Given the description of an element on the screen output the (x, y) to click on. 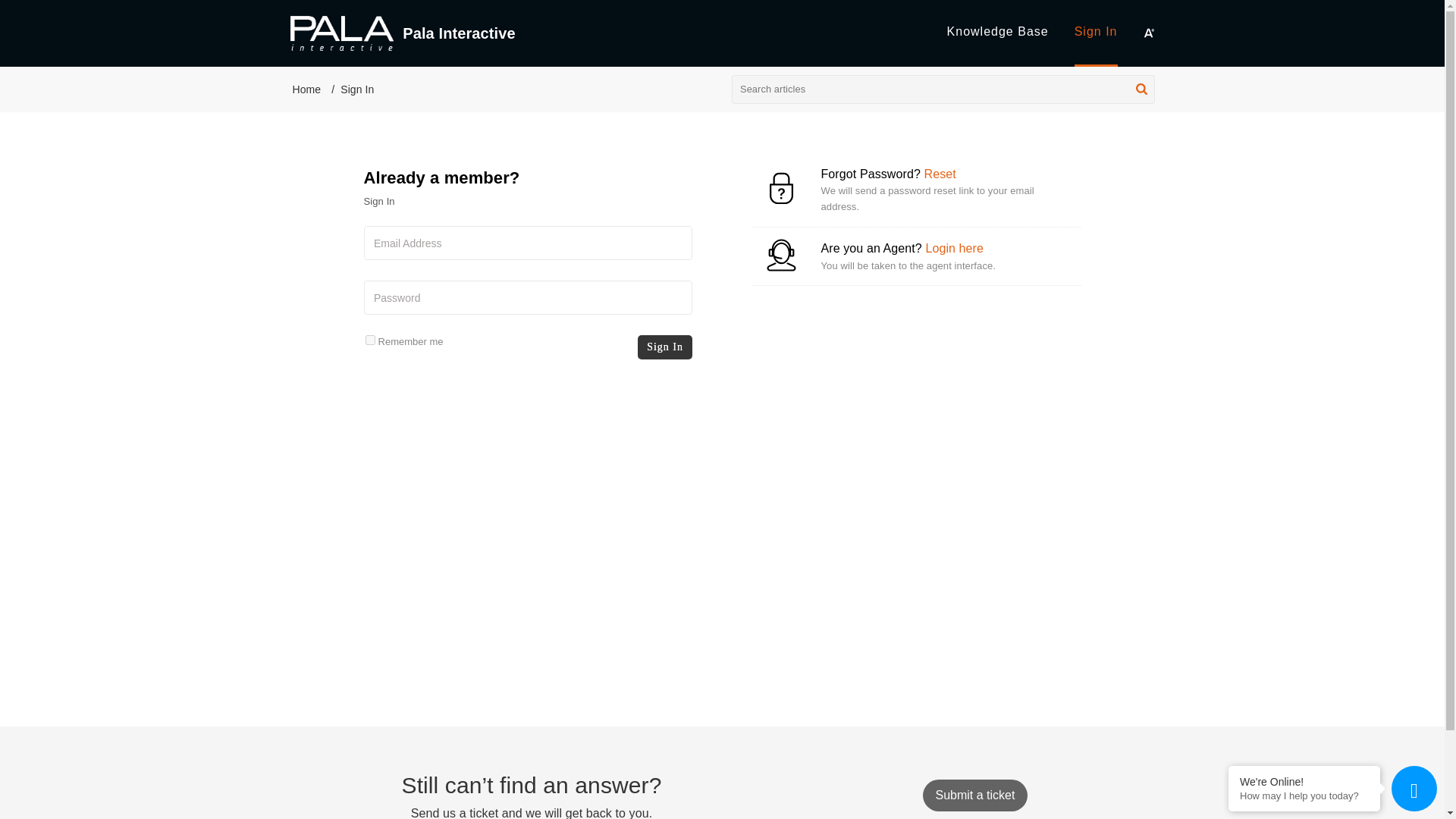
Sign In (1096, 31)
Home (306, 89)
Knowledge Base (997, 31)
How may I help you today? (1307, 795)
Reset (939, 173)
Submit a ticket (974, 795)
We're Online! (1310, 781)
Submit a ticket (974, 794)
Pala Interactive (668, 33)
Login here (954, 247)
Knowledge Base (997, 33)
